Given the description of an element on the screen output the (x, y) to click on. 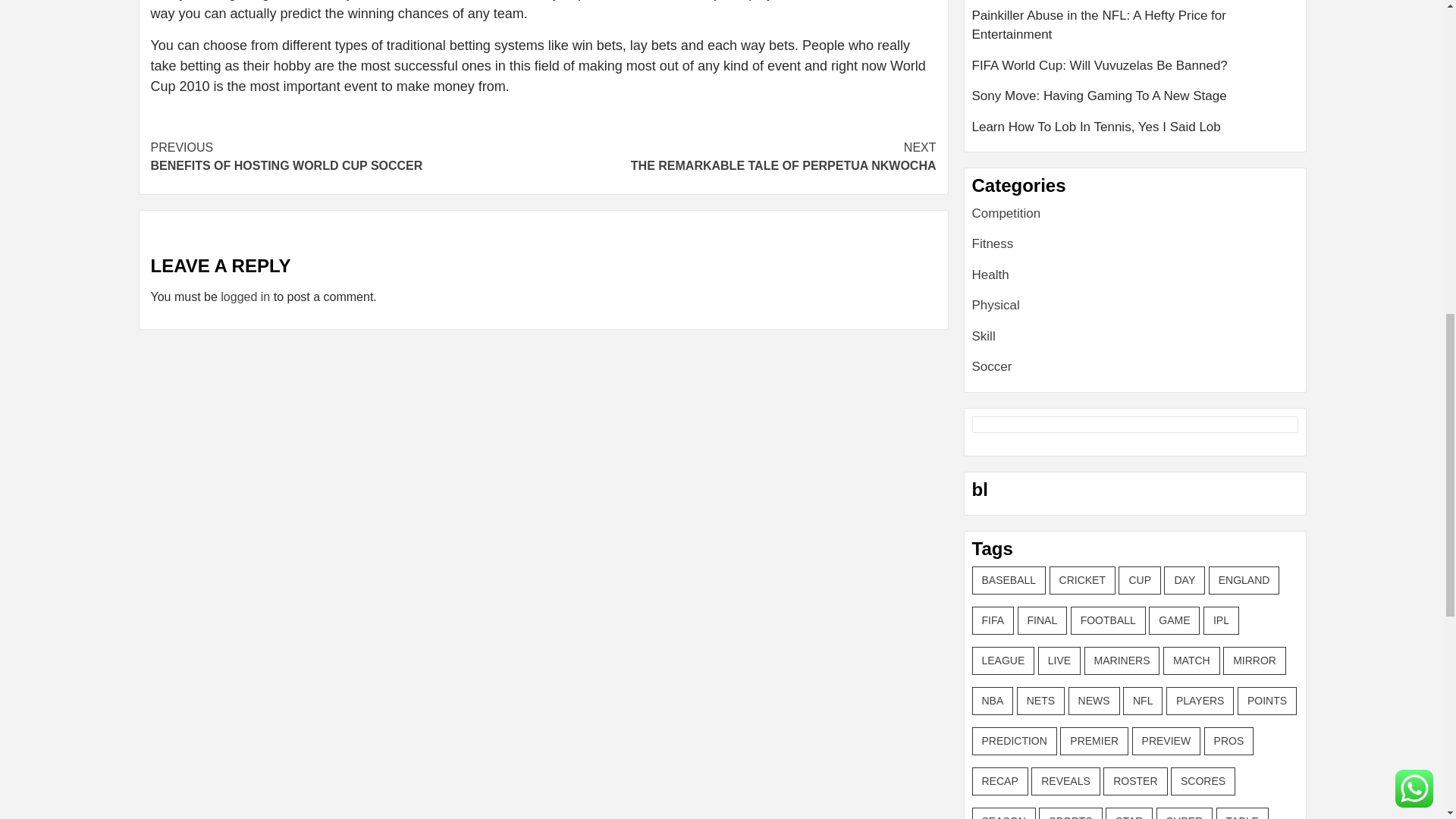
Skill (983, 336)
logged in (245, 296)
Health (739, 156)
Competition (990, 274)
Fitness (1006, 213)
Physical (992, 243)
Painkiller Abuse in the NFL: A Hefty Price for Entertainment (996, 305)
Learn How To Lob In Tennis, Yes I Said Lob (1135, 30)
FIFA World Cup: Will Vuvuzelas Be Banned? (1135, 127)
Sony Move: Having Gaming To A New Stage (1135, 71)
